Given the description of an element on the screen output the (x, y) to click on. 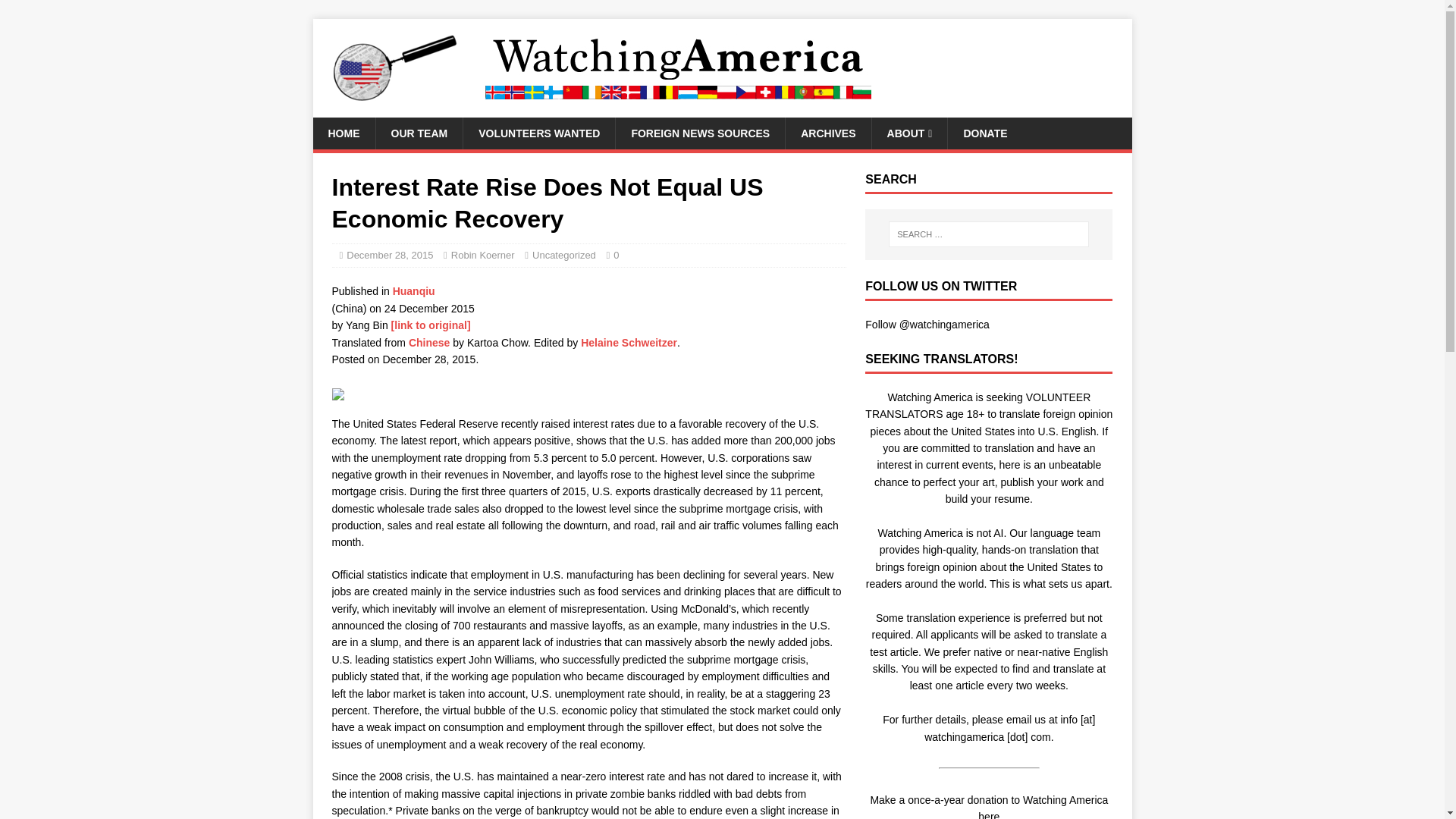
OUR TEAM (418, 133)
Helaine Schweitzer (628, 342)
VOLUNTEERS WANTED (538, 133)
Huanqiu (414, 291)
December 28, 2015 (389, 255)
Chinese (429, 342)
Robin Koerner (483, 255)
HOME (343, 133)
FOREIGN NEWS SOURCES (699, 133)
ABOUT (908, 133)
